Given the description of an element on the screen output the (x, y) to click on. 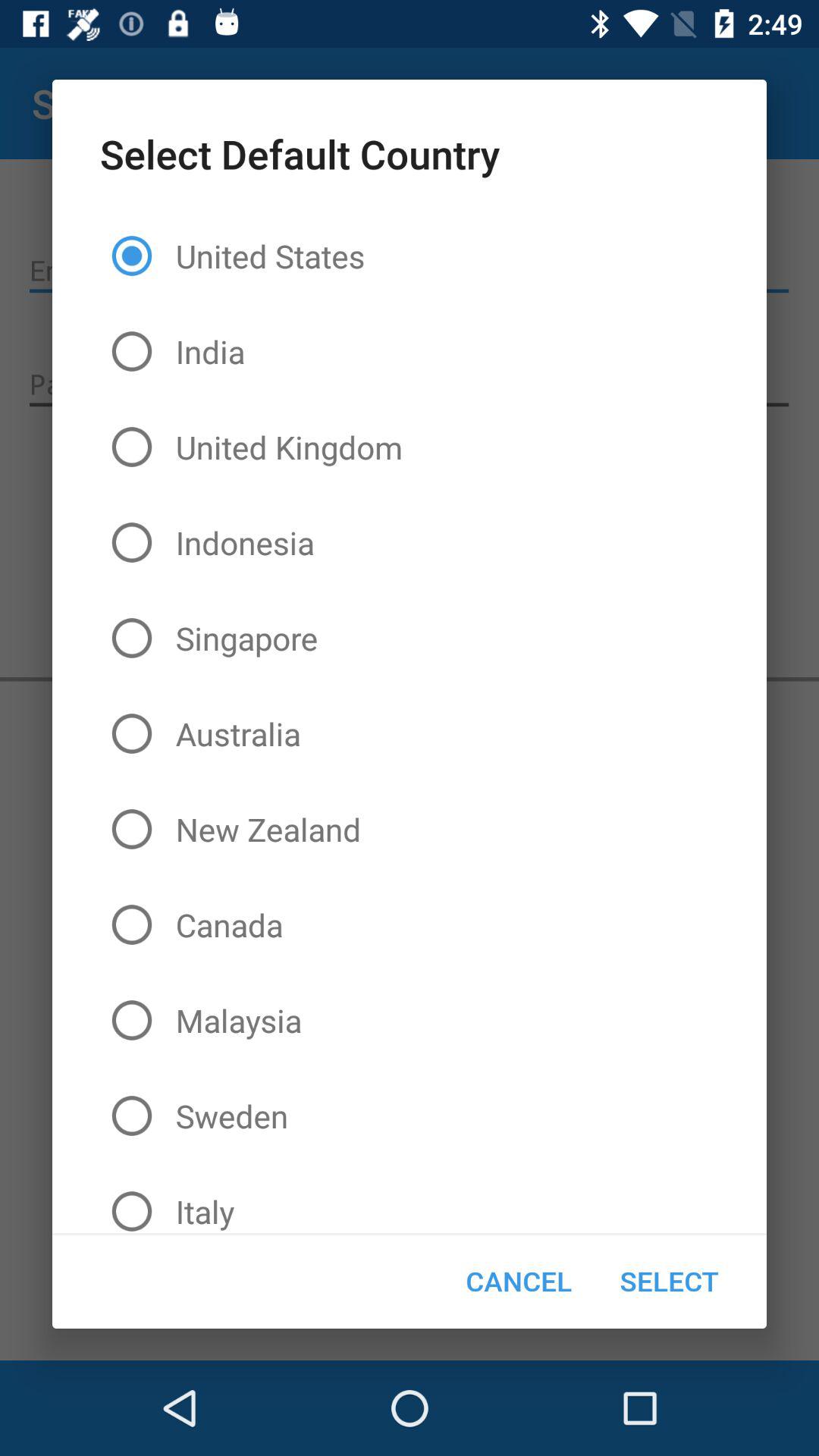
open item next to the select icon (518, 1280)
